Given the description of an element on the screen output the (x, y) to click on. 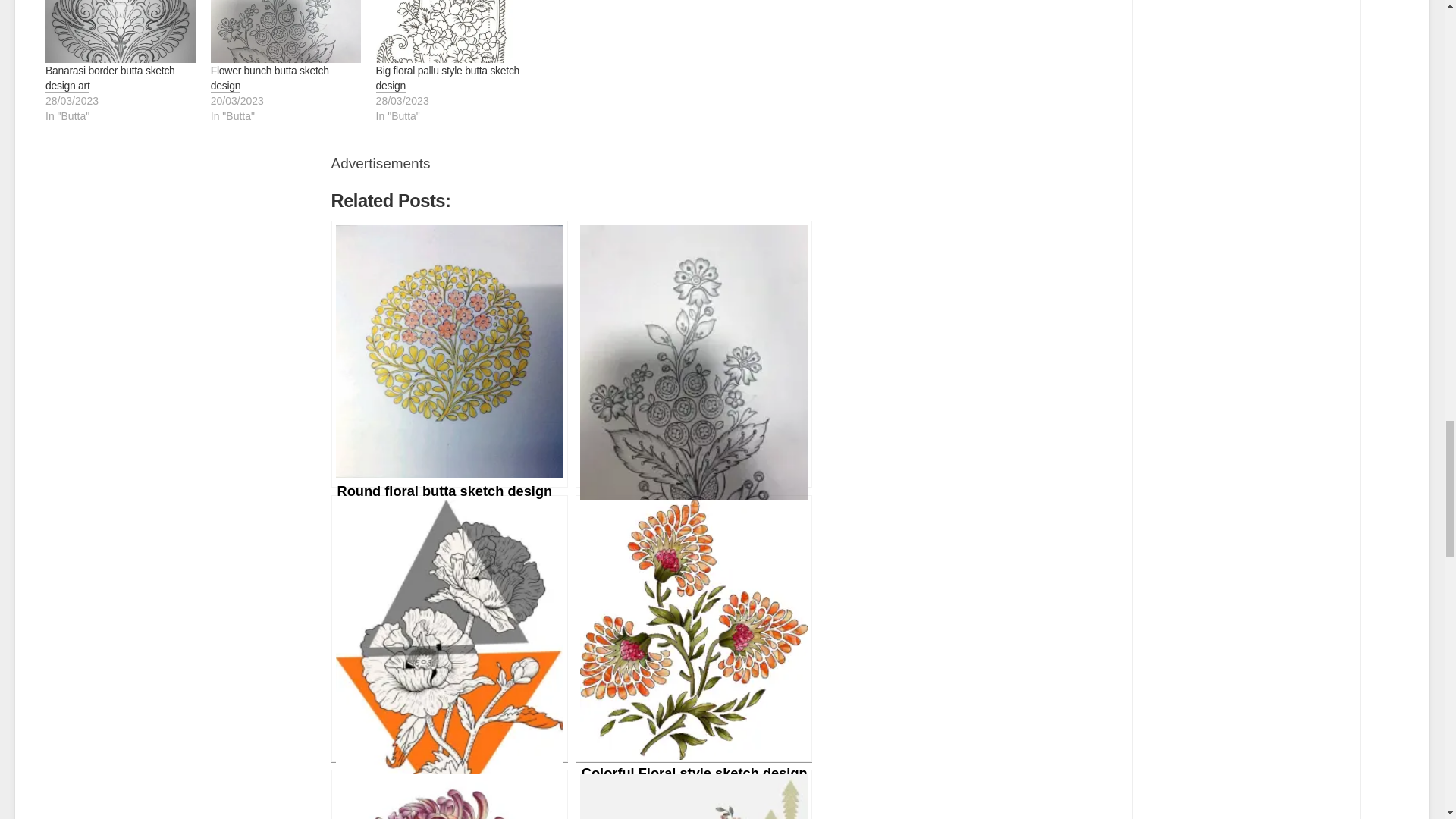
Banarasi border butta sketch design art (120, 31)
Big floral pallu style butta sketch design (447, 77)
Flower bunch butta sketch design (270, 77)
Banarasi border butta sketch design art (109, 77)
Flower bunch butta sketch design (286, 31)
Big floral pallu style butta sketch design (450, 31)
